Given the description of an element on the screen output the (x, y) to click on. 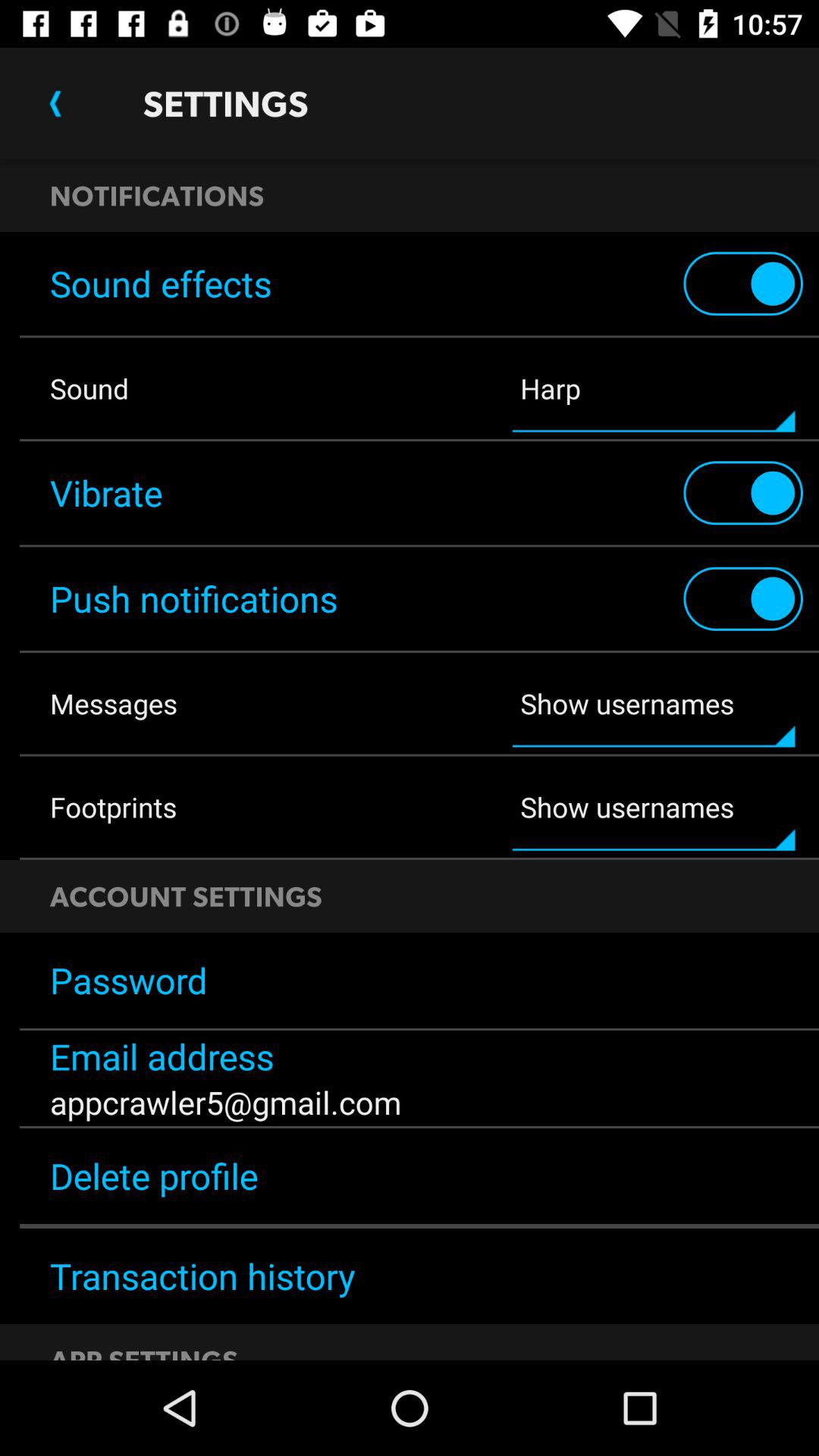
click delete profile icon (409, 1175)
